Given the description of an element on the screen output the (x, y) to click on. 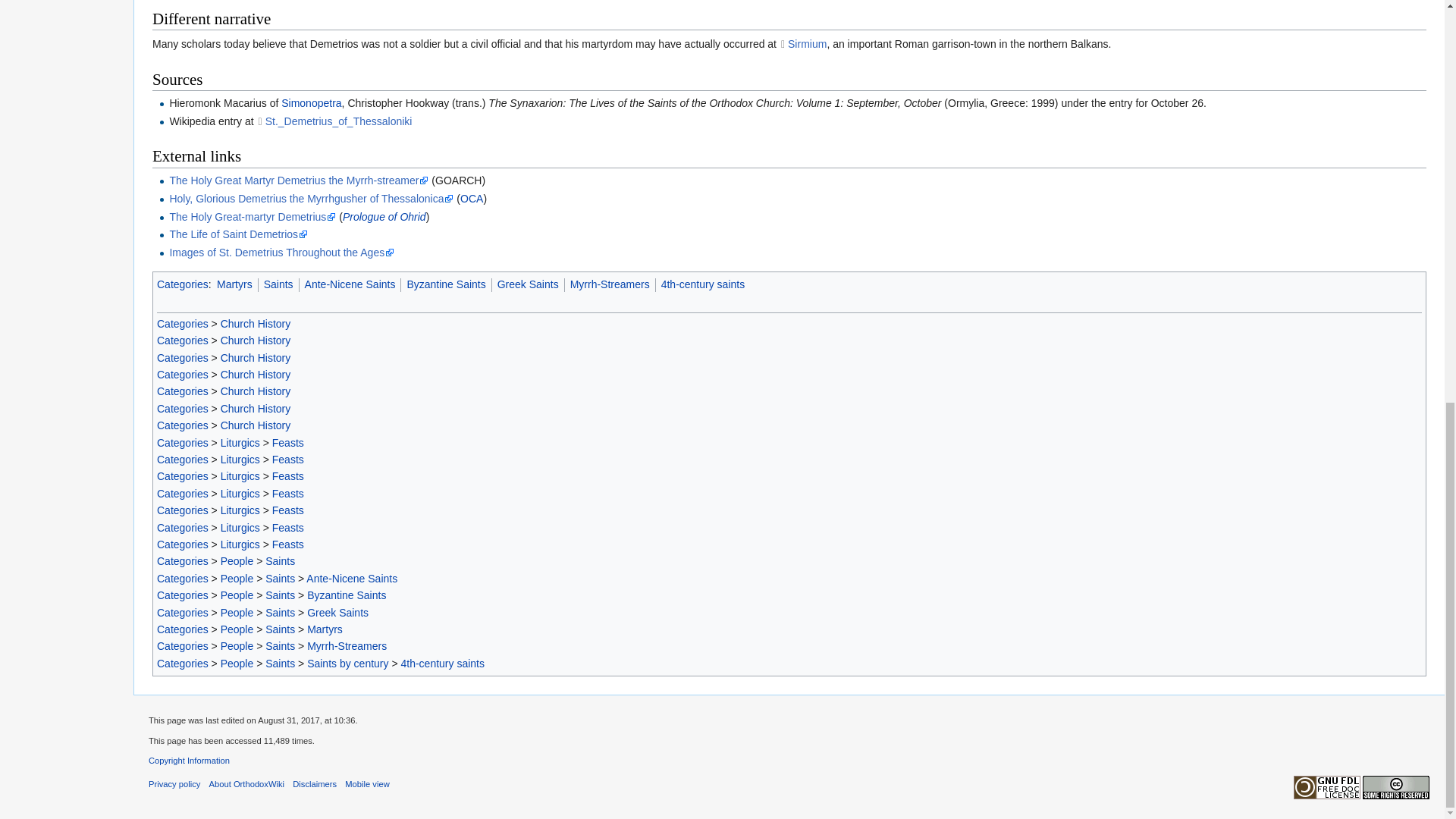
Simonopetra (310, 102)
Holy, Glorious Demetrius the Myrrhgusher of Thessalonica (310, 198)
The Holy Great Martyr Demetrius the Myrrh-streamer (298, 180)
Sirmium (802, 43)
Prologue of Ohrid (384, 216)
The Holy Great-martyr Demetrius (252, 216)
The Life of Saint Demetrios (237, 234)
OCA (471, 198)
